Given the description of an element on the screen output the (x, y) to click on. 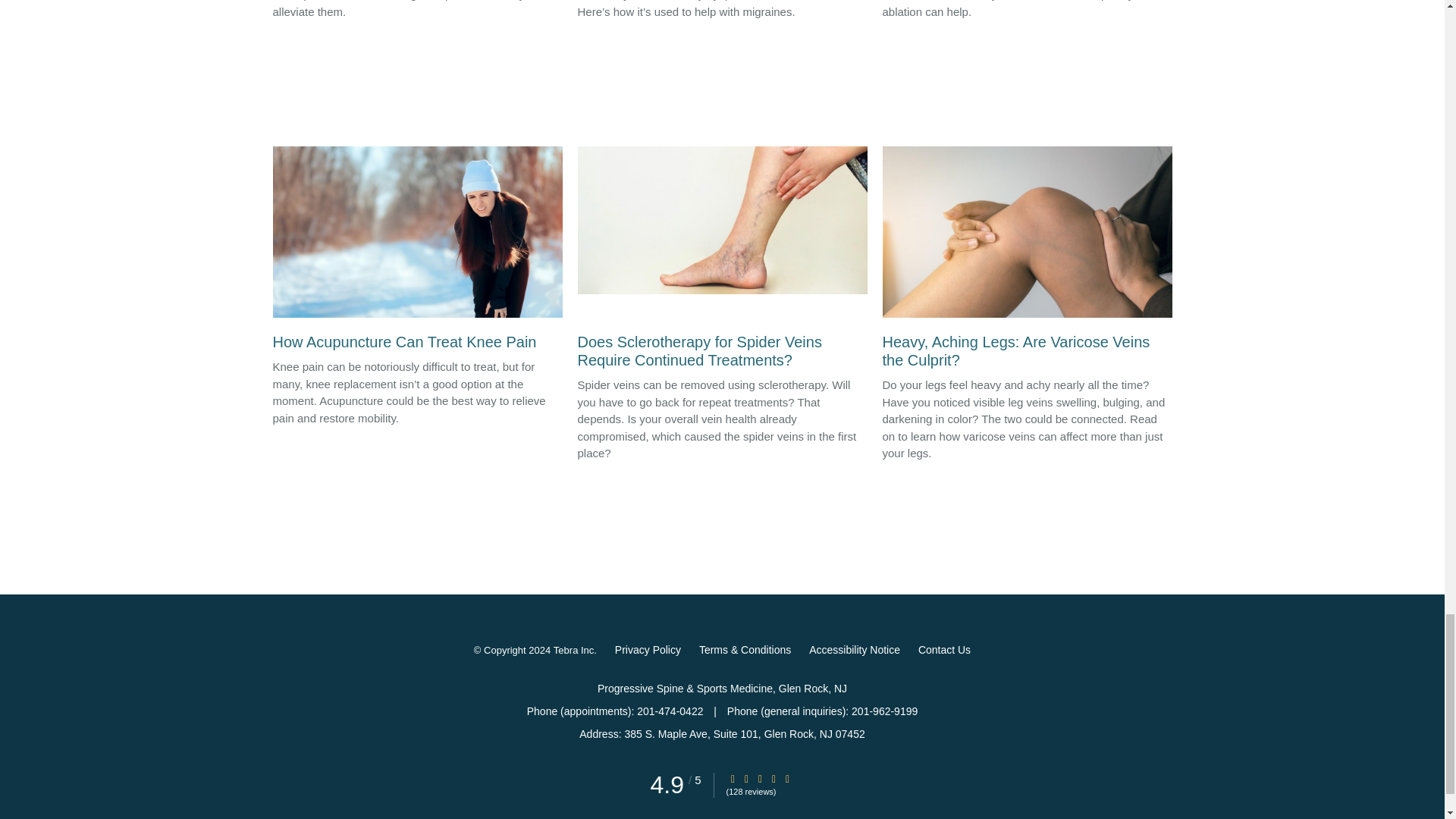
Star Rating (746, 778)
Star Rating (733, 778)
Star Rating (760, 778)
Star Rating (788, 778)
Star Rating (773, 778)
